Given the description of an element on the screen output the (x, y) to click on. 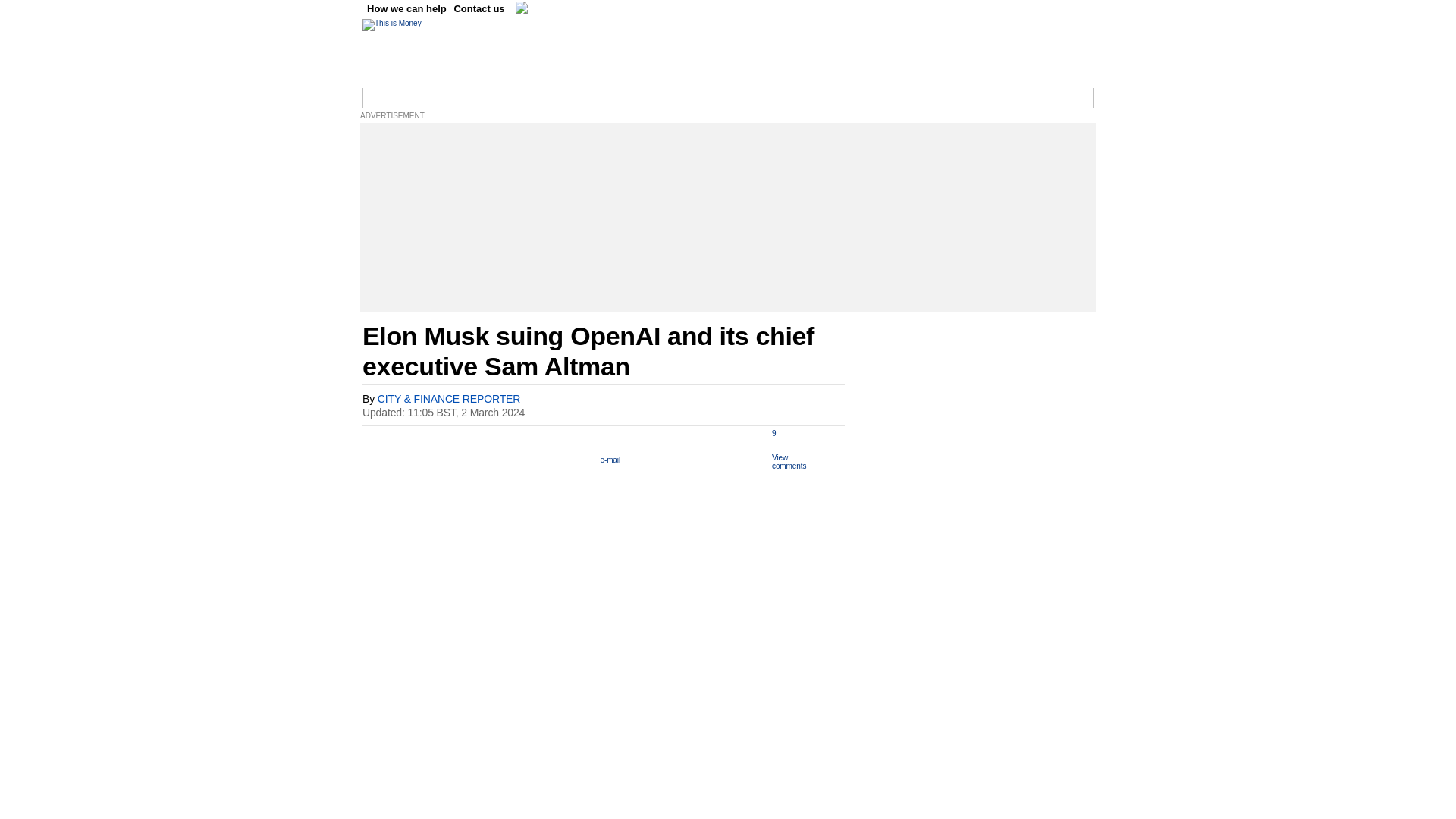
Investing (582, 97)
Mortgages (873, 97)
How we can help (407, 8)
Pensions (822, 97)
Money Home (395, 97)
Contact us (479, 8)
Cars (714, 97)
Login (1075, 97)
Buy-to-let (925, 97)
Business (450, 97)
